Given the description of an element on the screen output the (x, y) to click on. 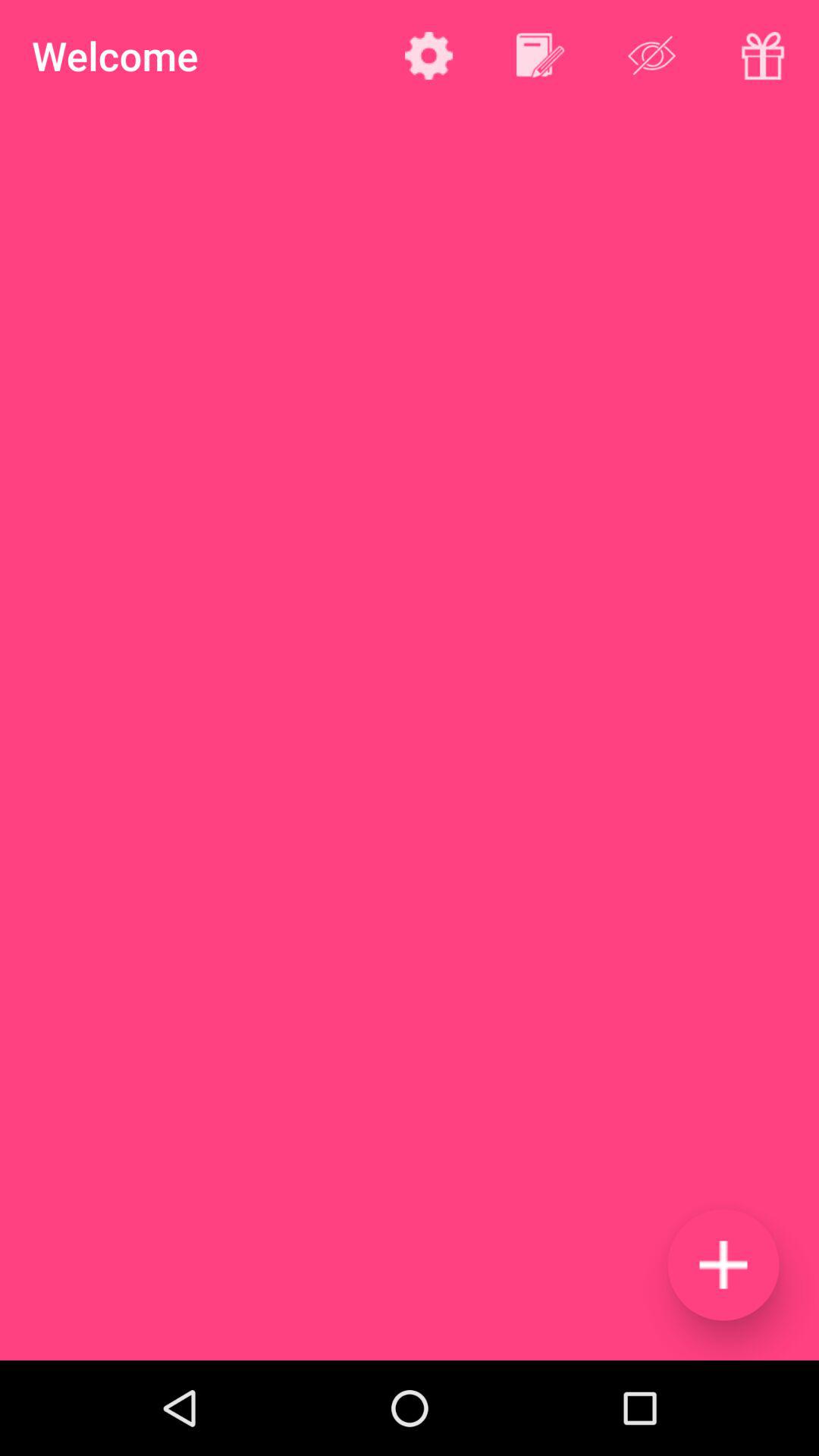
settings option (428, 55)
